Given the description of an element on the screen output the (x, y) to click on. 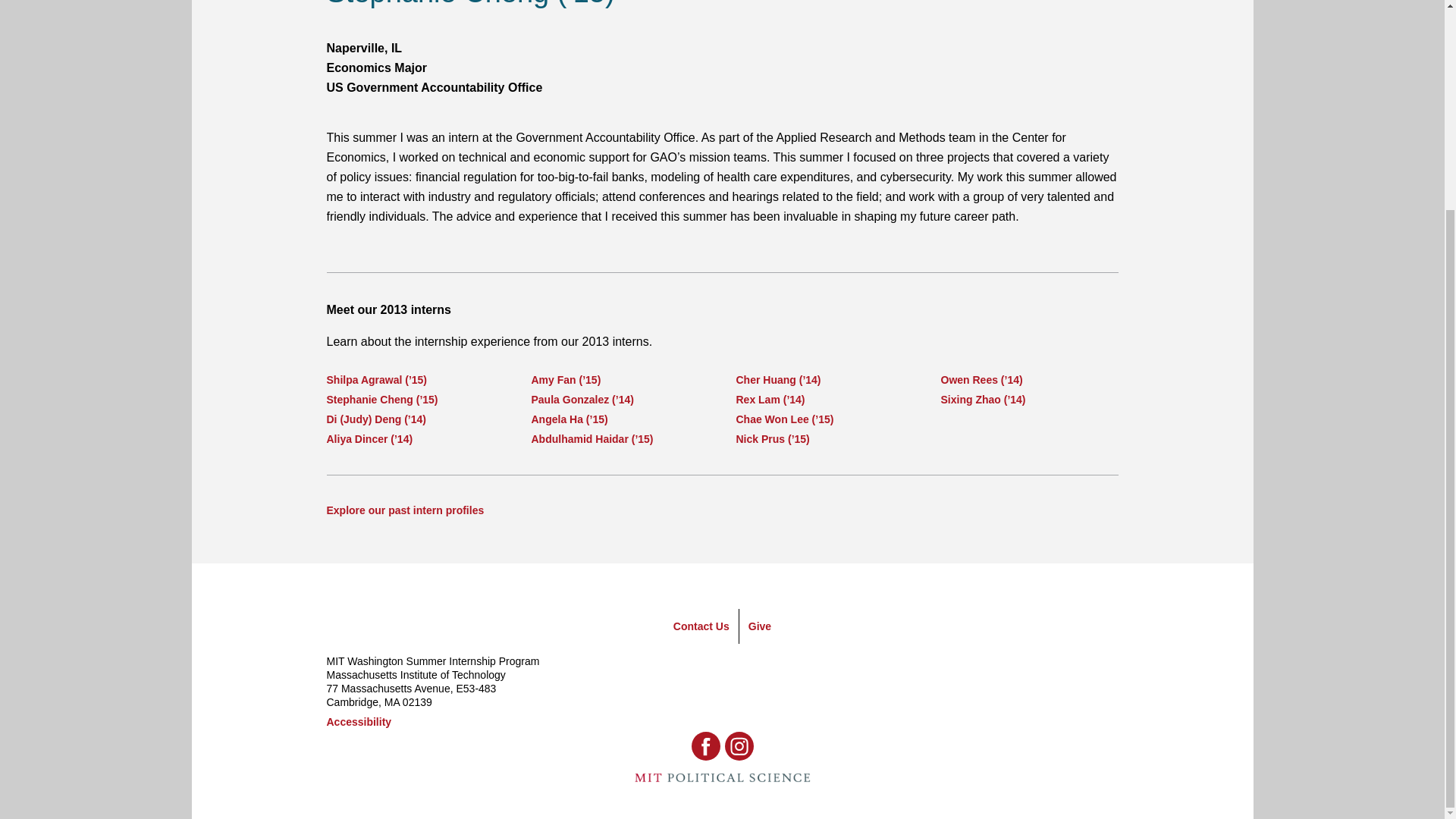
Political Science home (721, 777)
Visit us on Facebook (705, 746)
Explore our past intern profiles (404, 510)
Visit us on Instagram (739, 746)
